Given the description of an element on the screen output the (x, y) to click on. 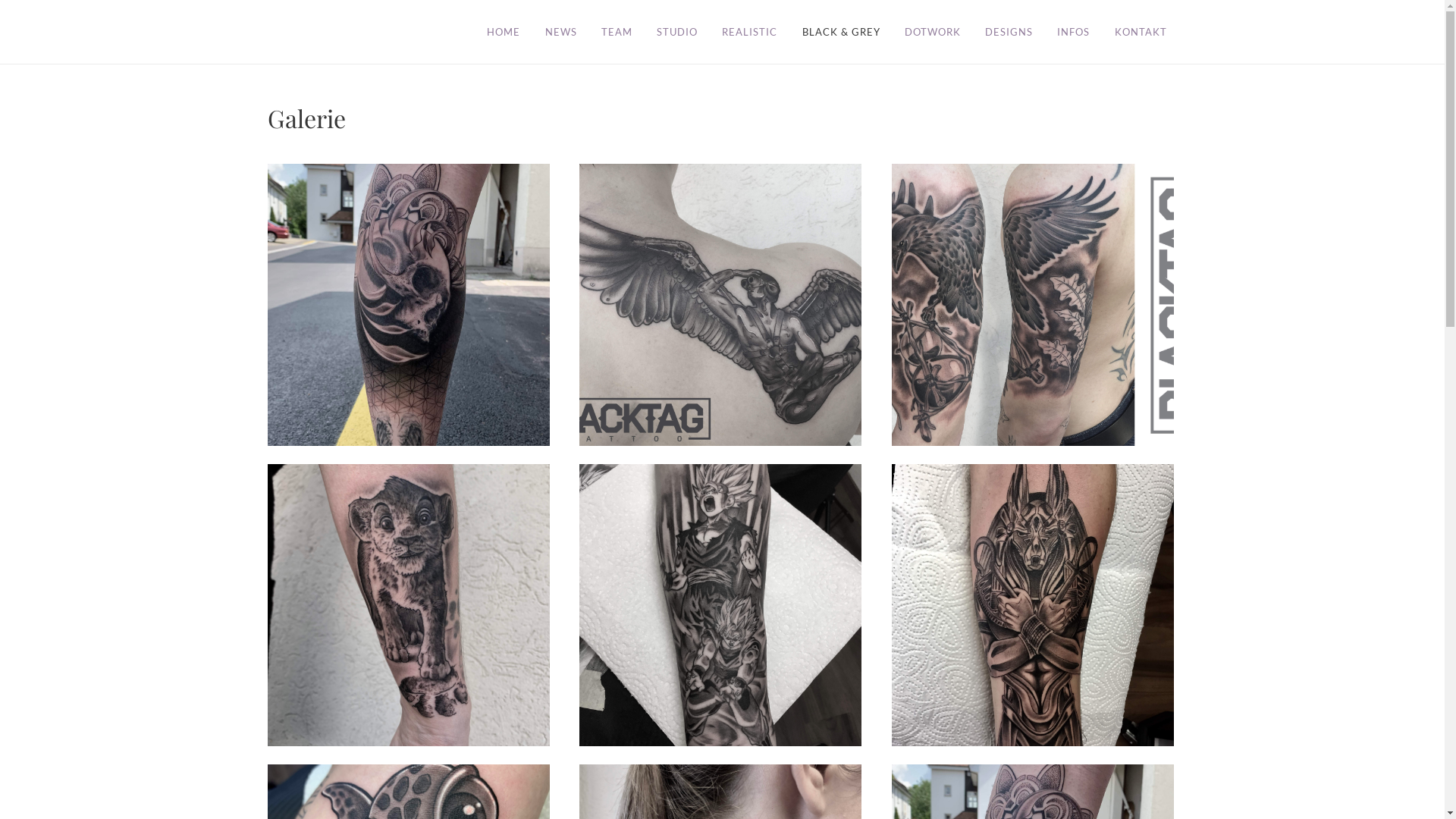
TEAM Element type: text (616, 31)
HOME Element type: text (508, 31)
DESIGNS Element type: text (1008, 31)
DOTWORK Element type: text (932, 31)
KONTAKT Element type: text (1140, 31)
REALISTIC Element type: text (749, 31)
BLACK & GREY Element type: text (841, 31)
STUDIO Element type: text (677, 31)
NEWS Element type: text (559, 31)
INFOS Element type: text (1073, 31)
